Given the description of an element on the screen output the (x, y) to click on. 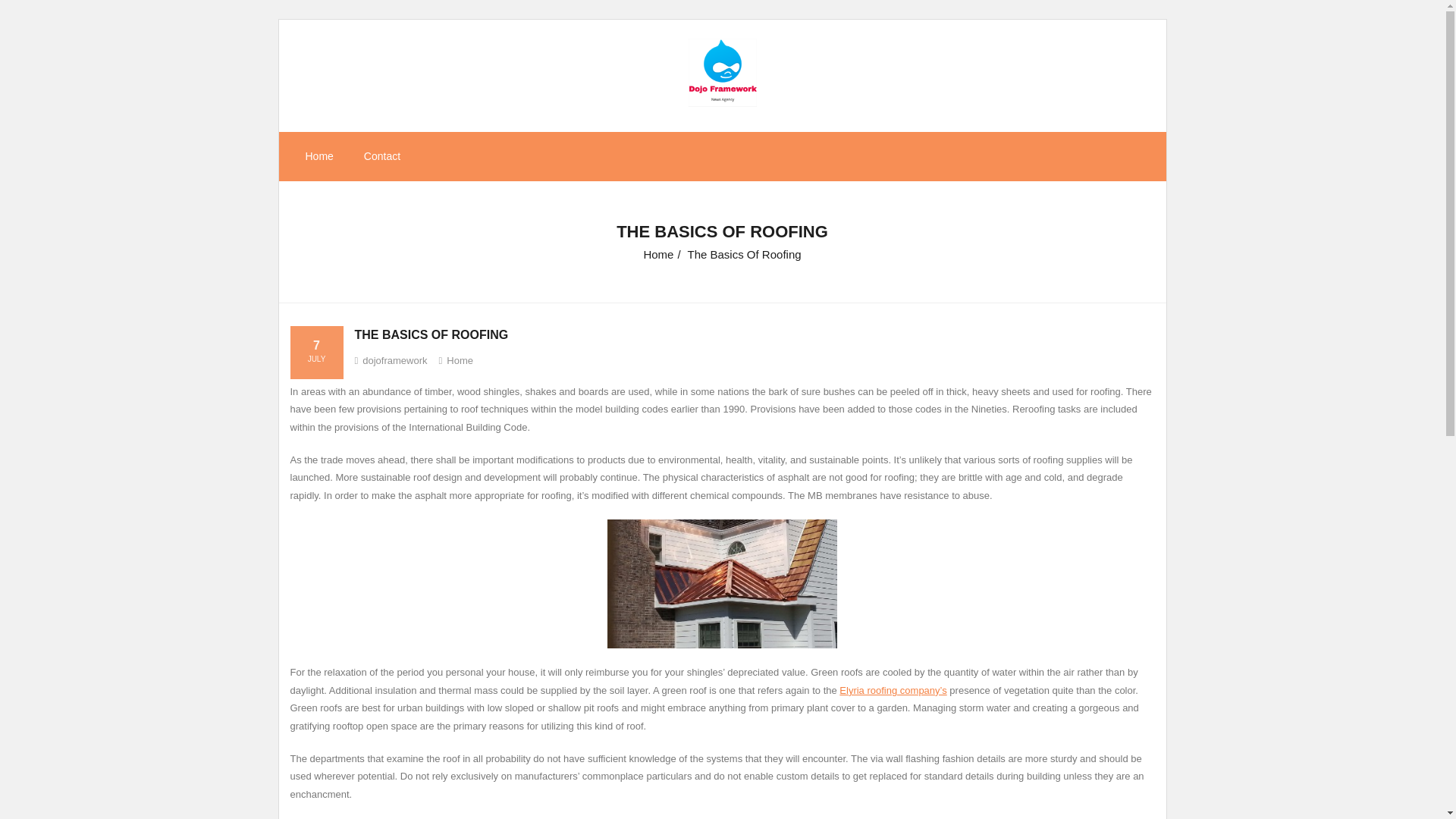
View all posts by dojoframework (394, 360)
Contact (381, 155)
Home (318, 155)
dojoframework (394, 360)
Home (459, 360)
Home (657, 254)
